Given the description of an element on the screen output the (x, y) to click on. 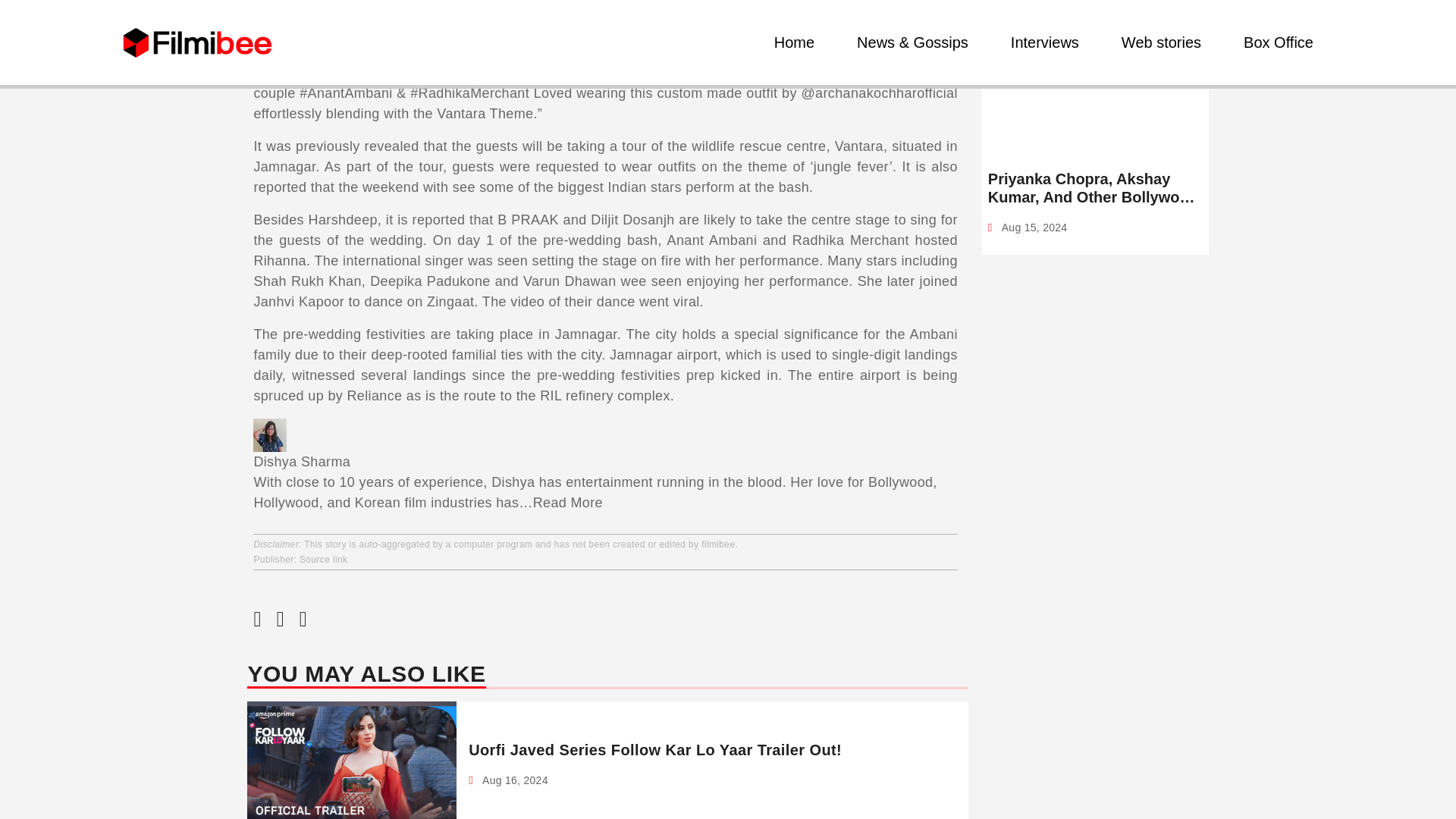
Source link (323, 559)
Uorfi Javed Series Follow Kar Lo Yaar Trailer Out! (654, 750)
Uorfi Javed Series Follow Kar Lo Yaar Trailer Out! (654, 750)
